Given the description of an element on the screen output the (x, y) to click on. 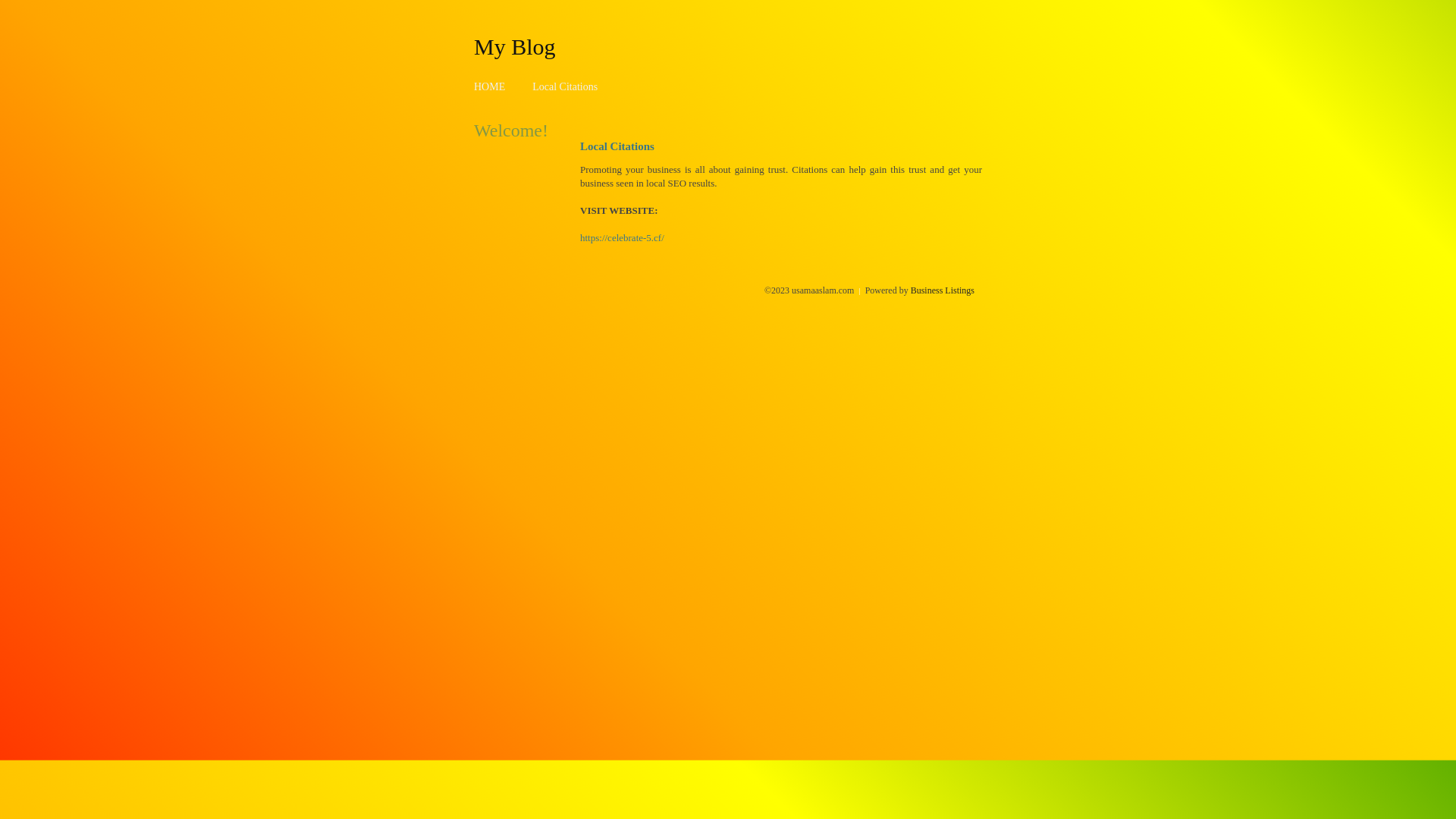
https://celebrate-5.cf/ Element type: text (622, 237)
Local Citations Element type: text (564, 86)
My Blog Element type: text (514, 46)
Business Listings Element type: text (942, 290)
HOME Element type: text (489, 86)
